Given the description of an element on the screen output the (x, y) to click on. 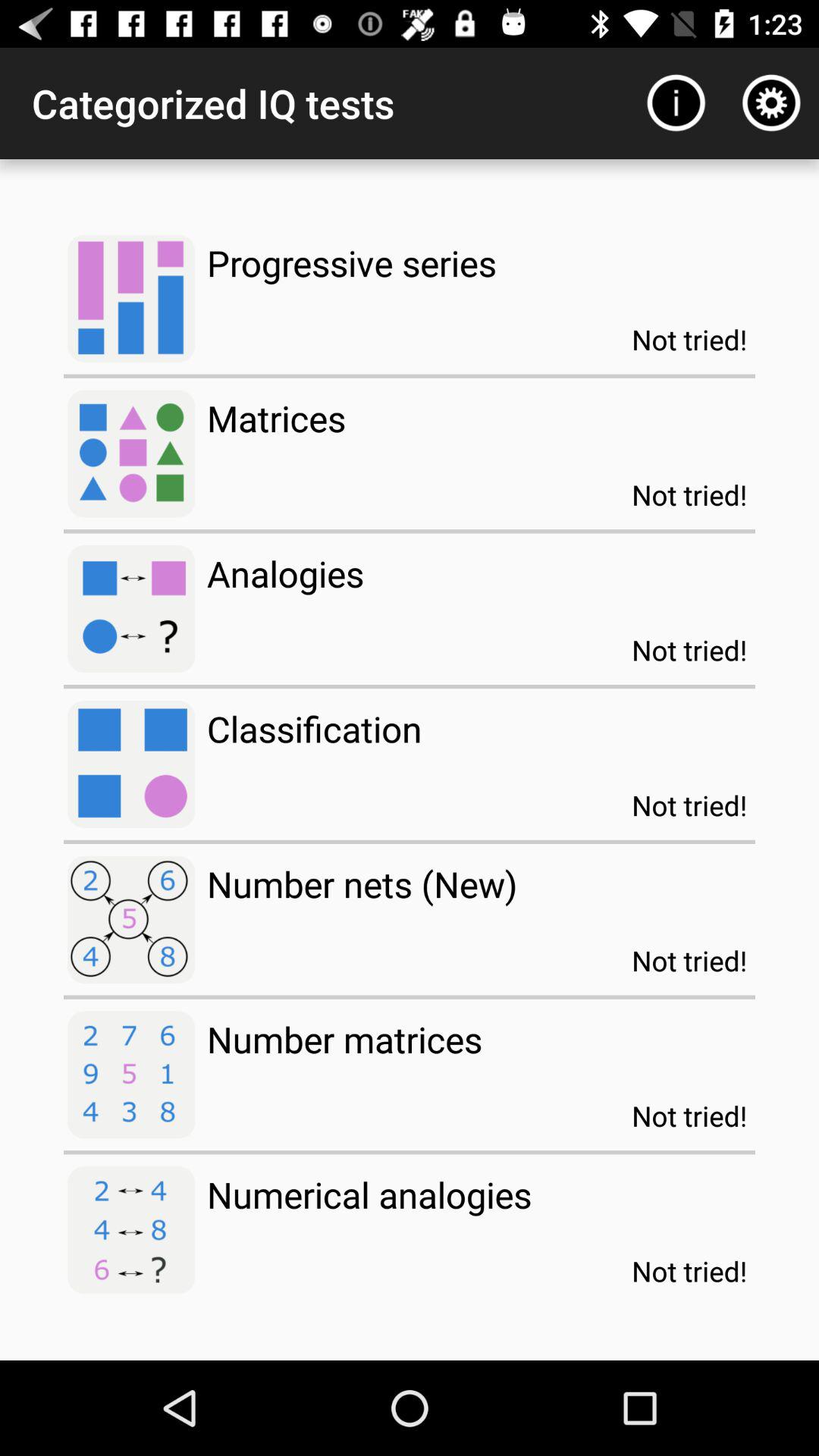
press item to the right of categorized iq tests app (675, 103)
